Given the description of an element on the screen output the (x, y) to click on. 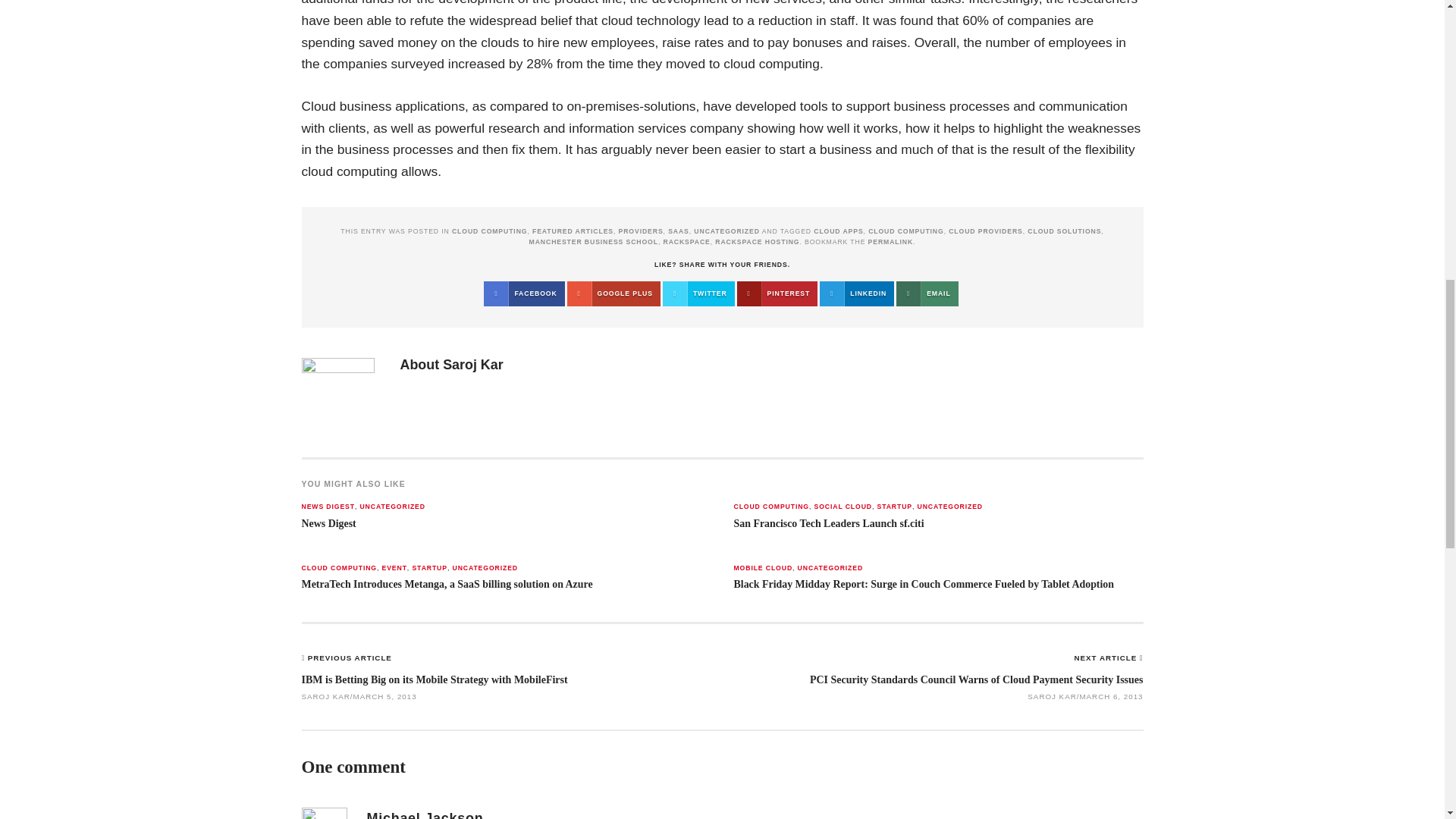
Posts by Saroj Kar (472, 364)
